Given the description of an element on the screen output the (x, y) to click on. 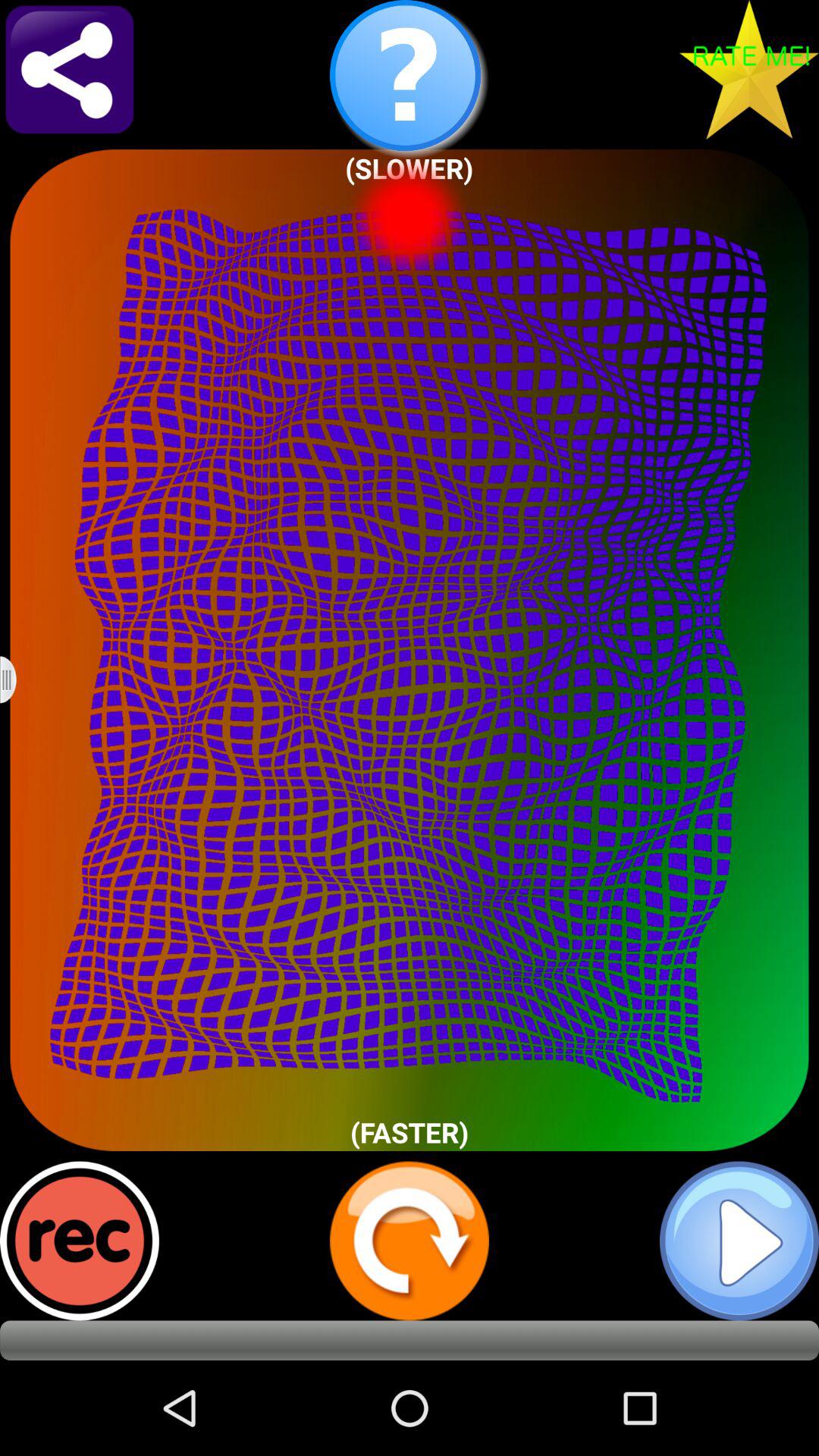
rate (749, 69)
